Given the description of an element on the screen output the (x, y) to click on. 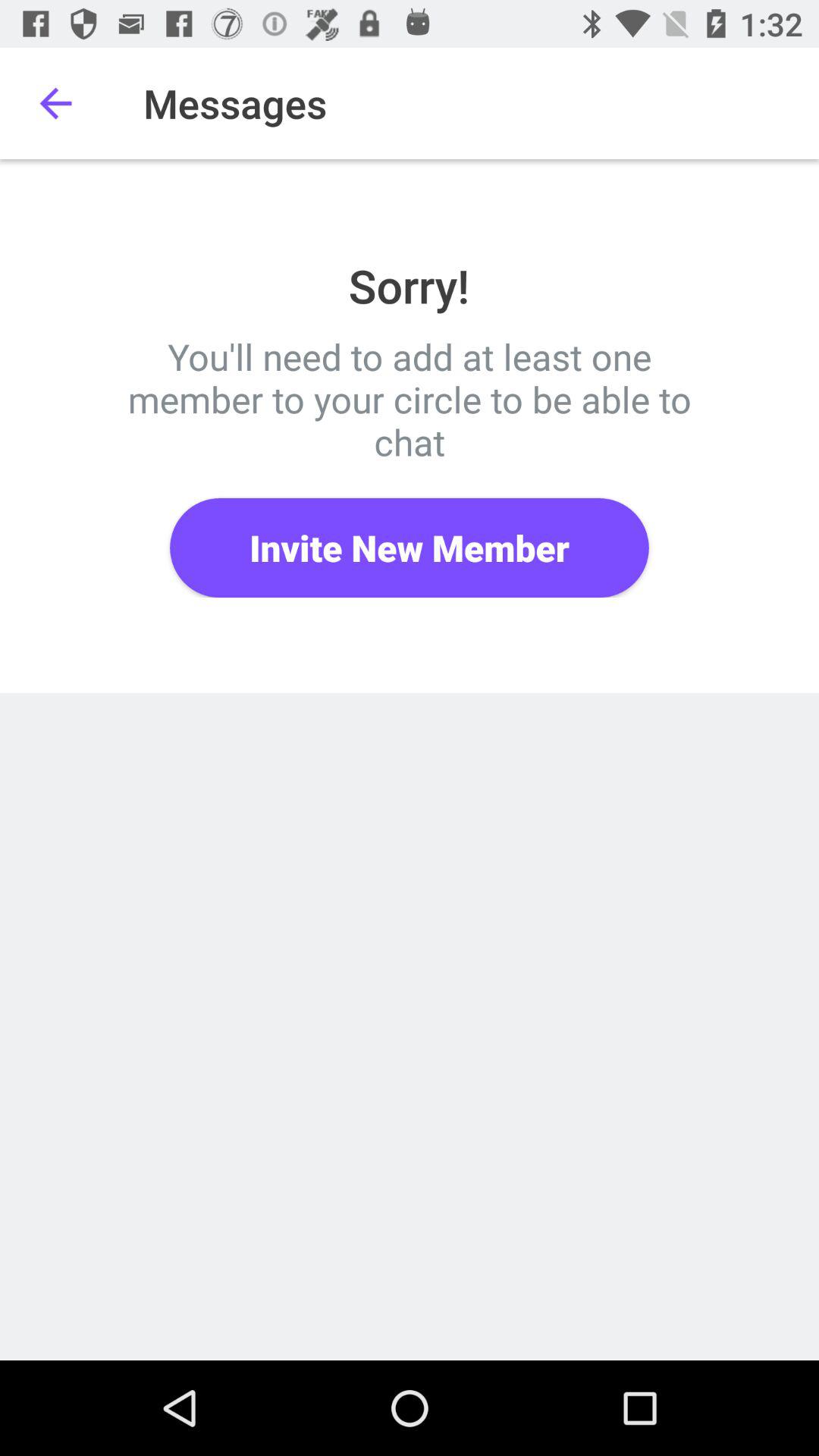
open icon below you ll need icon (409, 547)
